Given the description of an element on the screen output the (x, y) to click on. 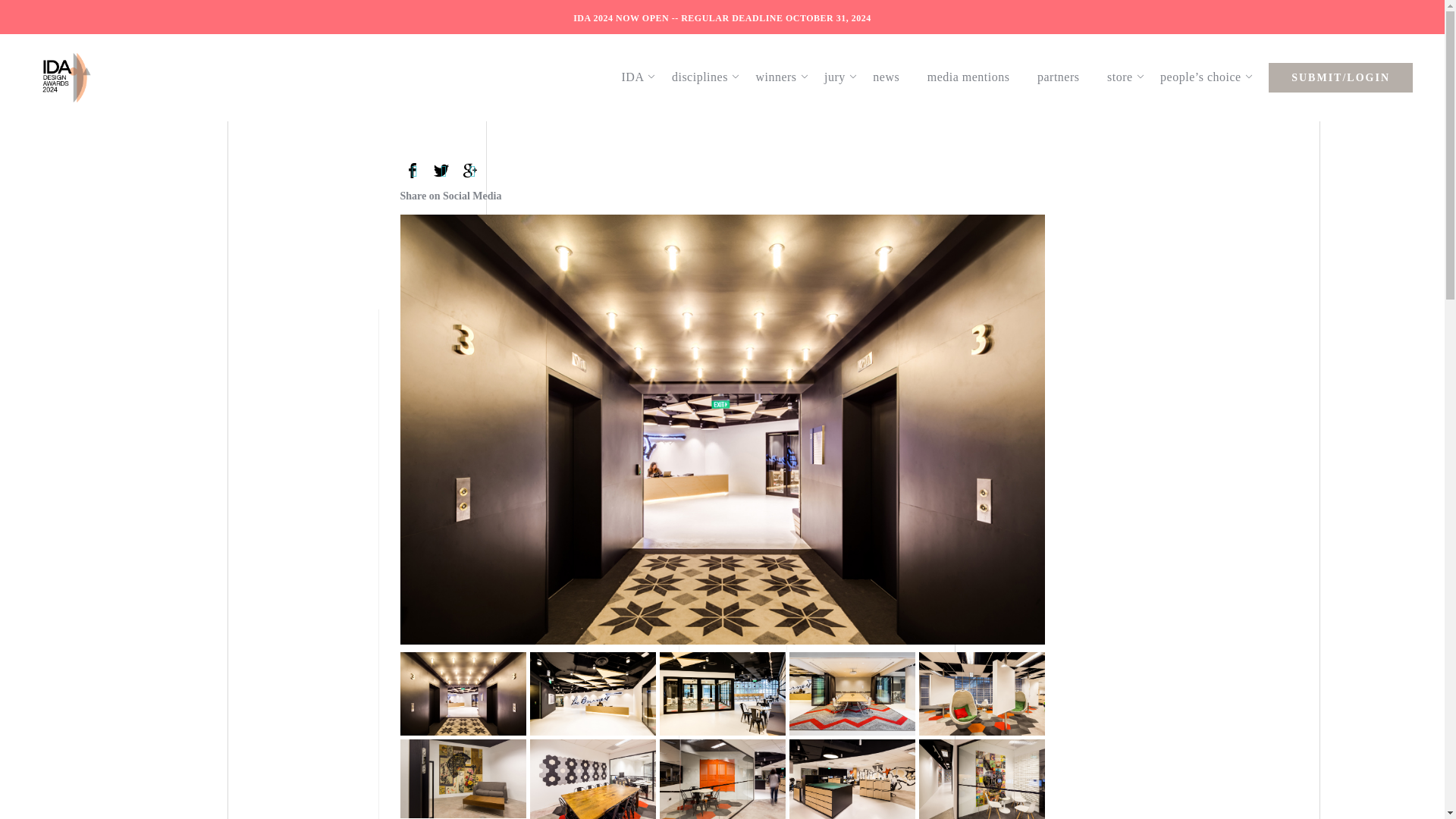
IDA (640, 76)
disciplines (706, 76)
media mentions (976, 76)
store (1127, 76)
jury (842, 76)
IDA International Design Awards 2023 Logo (66, 77)
news (893, 76)
winners (782, 76)
partners (1065, 76)
